Given the description of an element on the screen output the (x, y) to click on. 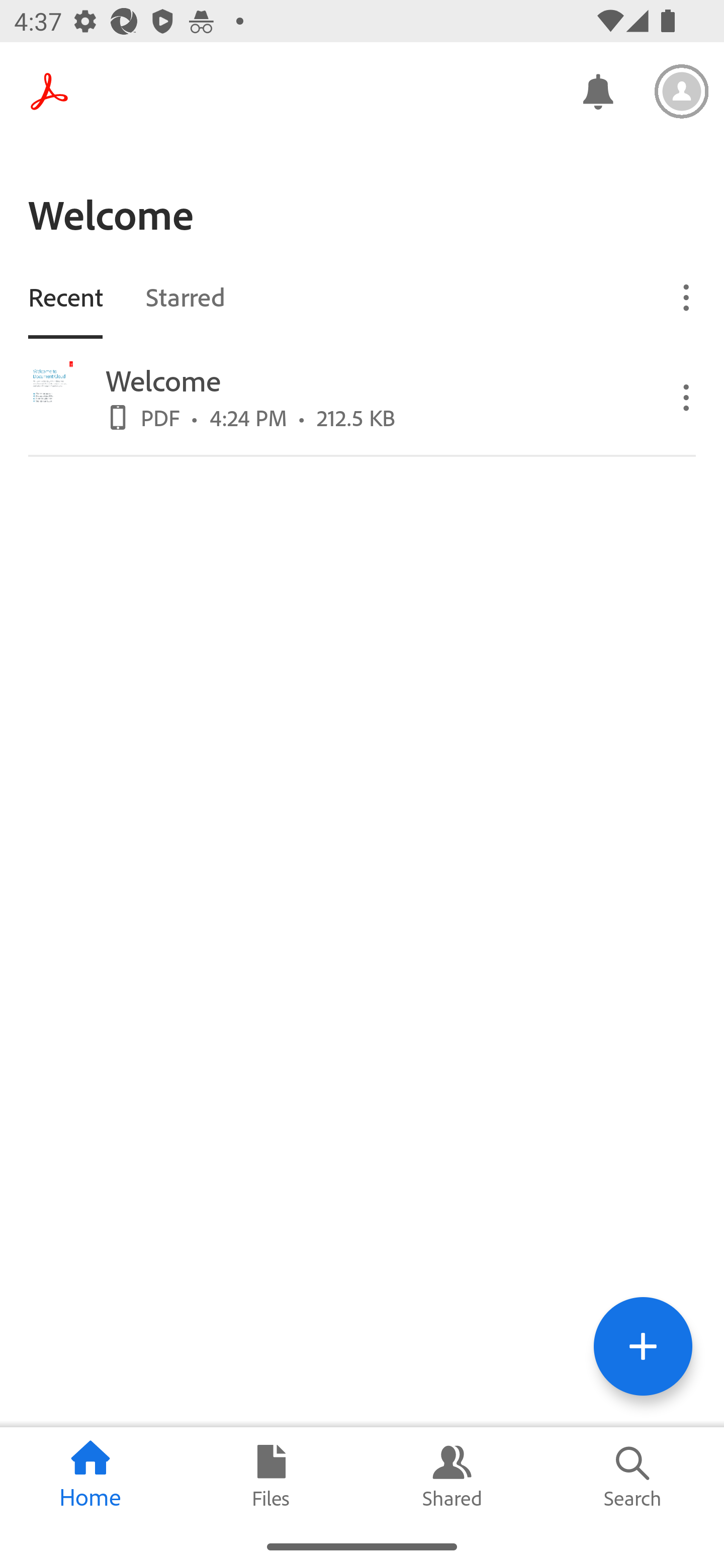
Notifications (597, 90)
Settings (681, 91)
Recent (65, 296)
Starred (185, 296)
Overflow (687, 296)
Overflow (687, 396)
Tools (642, 1345)
Home (90, 1475)
Files (271, 1475)
Shared (452, 1475)
Search (633, 1475)
